Given the description of an element on the screen output the (x, y) to click on. 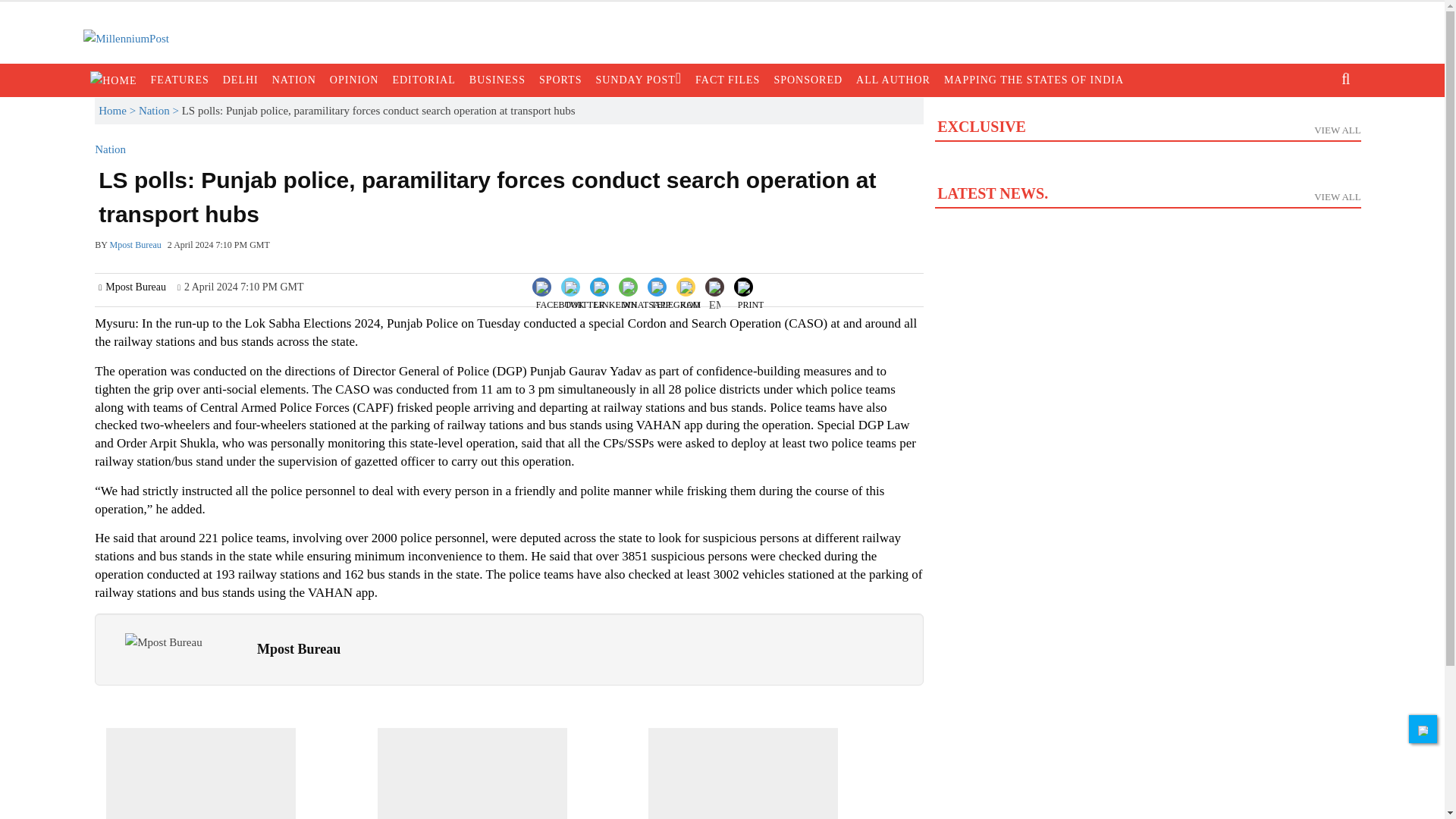
koo (689, 298)
NATION (293, 79)
OPINION (354, 79)
MillenniumPost (125, 38)
EDITORIAL (423, 79)
linkedin (615, 298)
SPONSORED (807, 79)
telegram (675, 298)
Email (713, 298)
Mpost Bureau (163, 642)
MAPPING THE STATES OF INDIA (1034, 79)
Print (750, 285)
BUSINESS (497, 79)
twitter (584, 298)
Share by Email (713, 288)
